Given the description of an element on the screen output the (x, y) to click on. 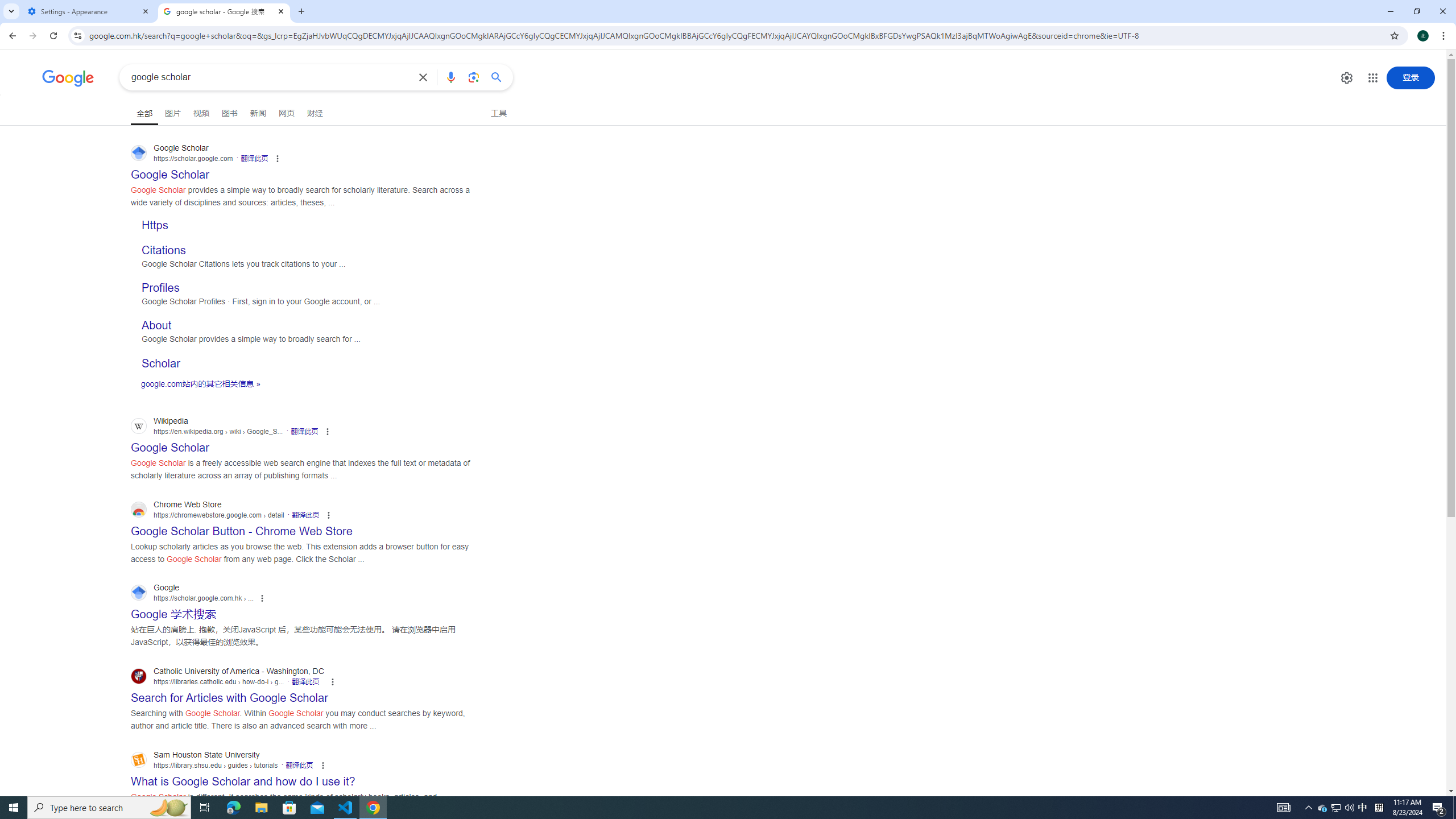
Google (68, 78)
Profiles (160, 287)
